Given the description of an element on the screen output the (x, y) to click on. 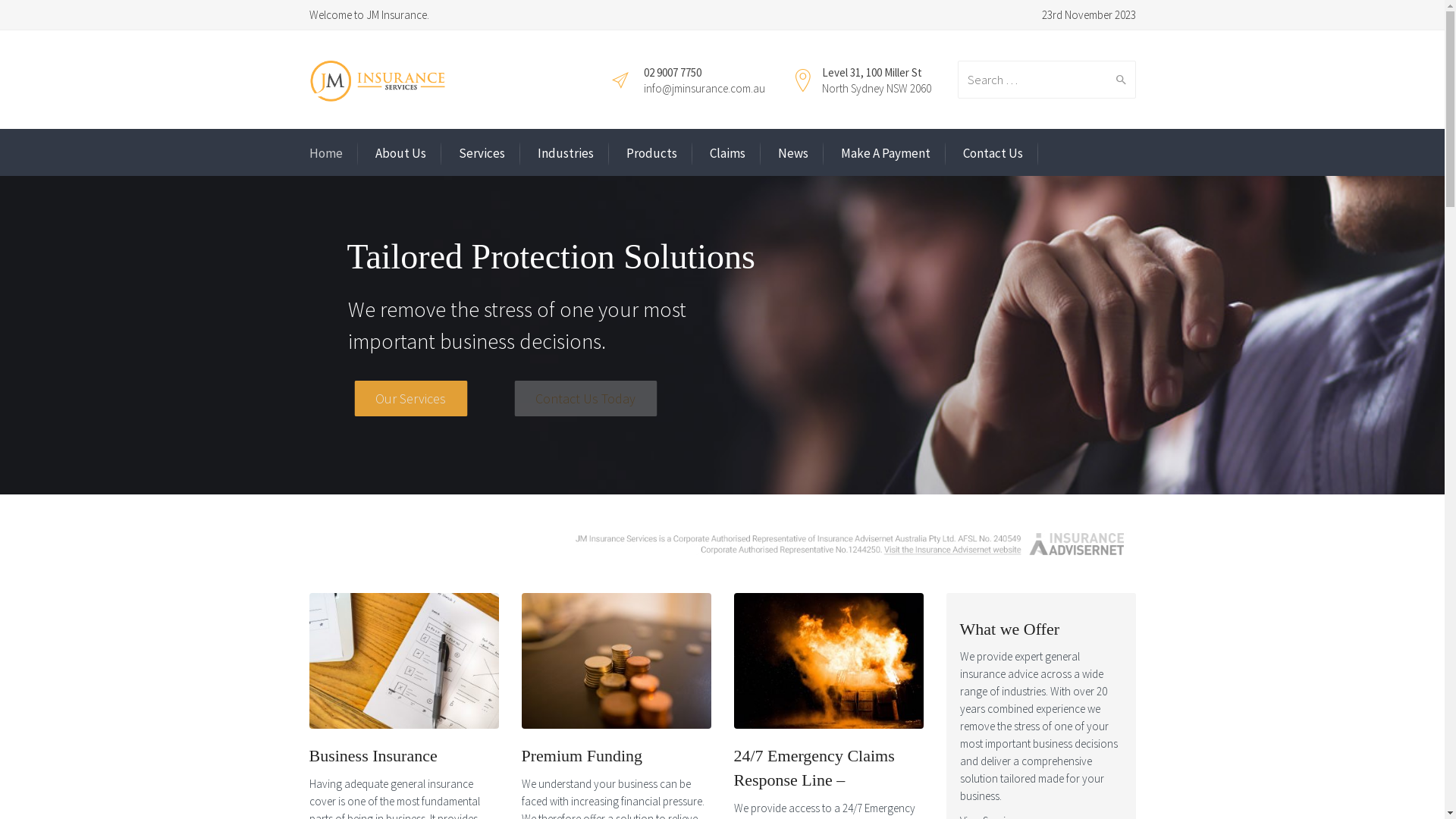
Industries Element type: text (564, 153)
Services Element type: text (481, 153)
Products Element type: text (651, 153)
Contact Us Element type: text (992, 153)
Claims Element type: text (727, 153)
Search Element type: text (1117, 79)
About Us Element type: text (399, 153)
Home Element type: text (325, 153)
Make A Payment Element type: text (884, 153)
info@jminsurance.com.au Element type: text (703, 88)
News Element type: text (793, 153)
